Given the description of an element on the screen output the (x, y) to click on. 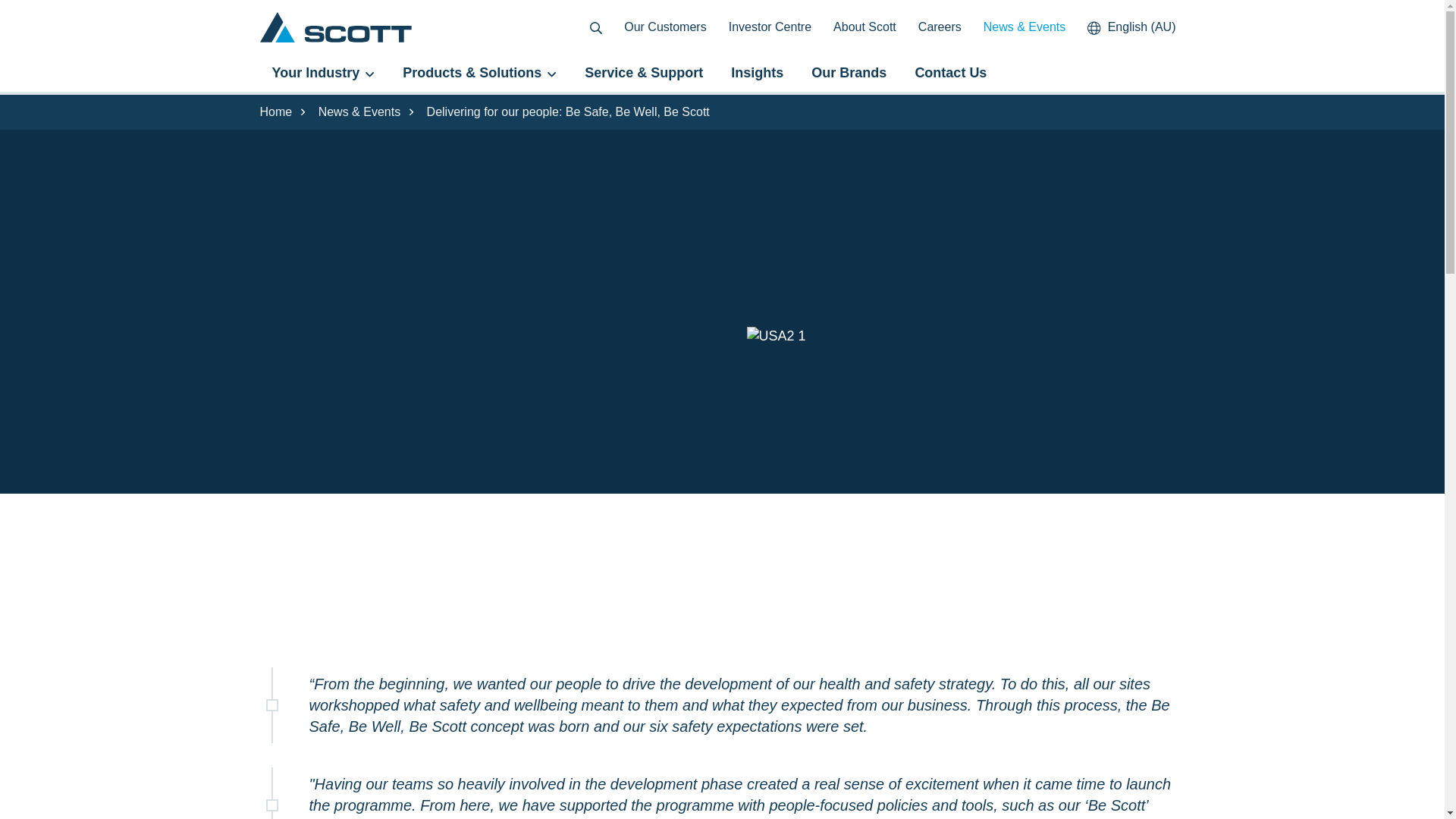
About Scott (864, 27)
Investor Centre (770, 27)
Our Customers (664, 27)
Your Industry (323, 72)
Careers (939, 27)
